Given the description of an element on the screen output the (x, y) to click on. 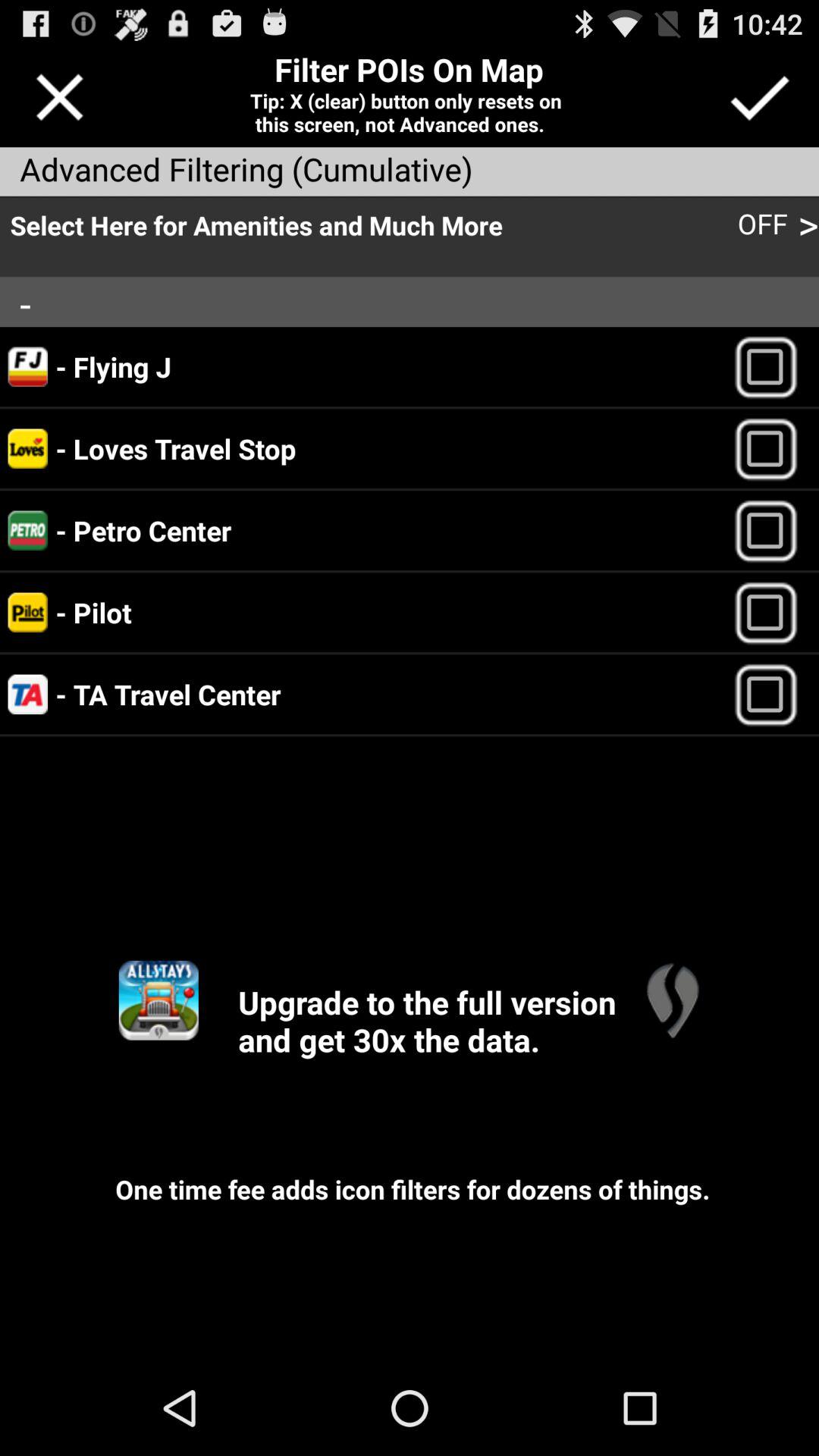
select to upgrade (158, 1000)
